Given the description of an element on the screen output the (x, y) to click on. 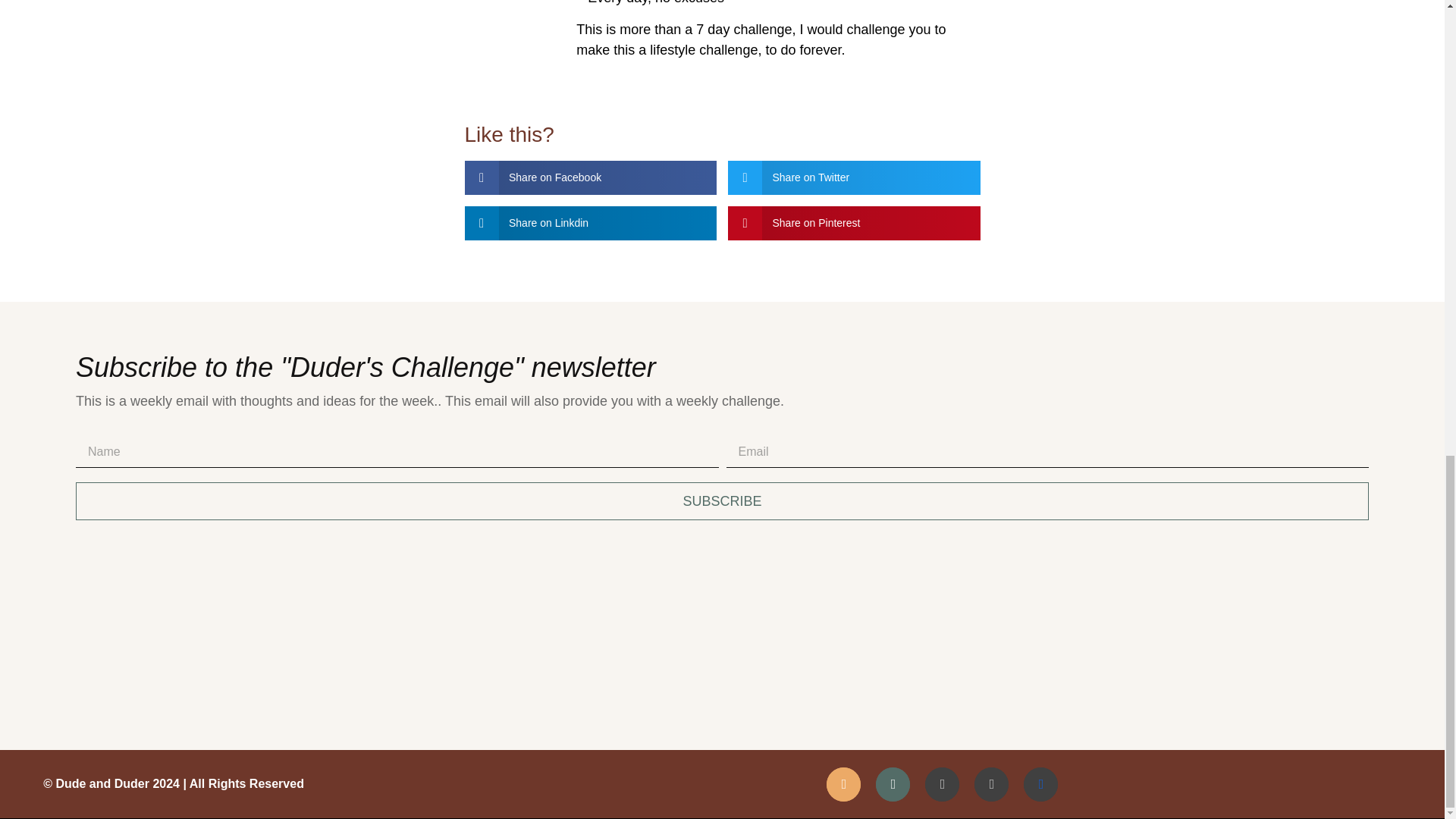
Dude and Duder Facebook (1040, 784)
SUBSCRIBE (721, 501)
Dude and Duder YouTube (991, 784)
Dude and Duder Twitter (941, 784)
